Given the description of an element on the screen output the (x, y) to click on. 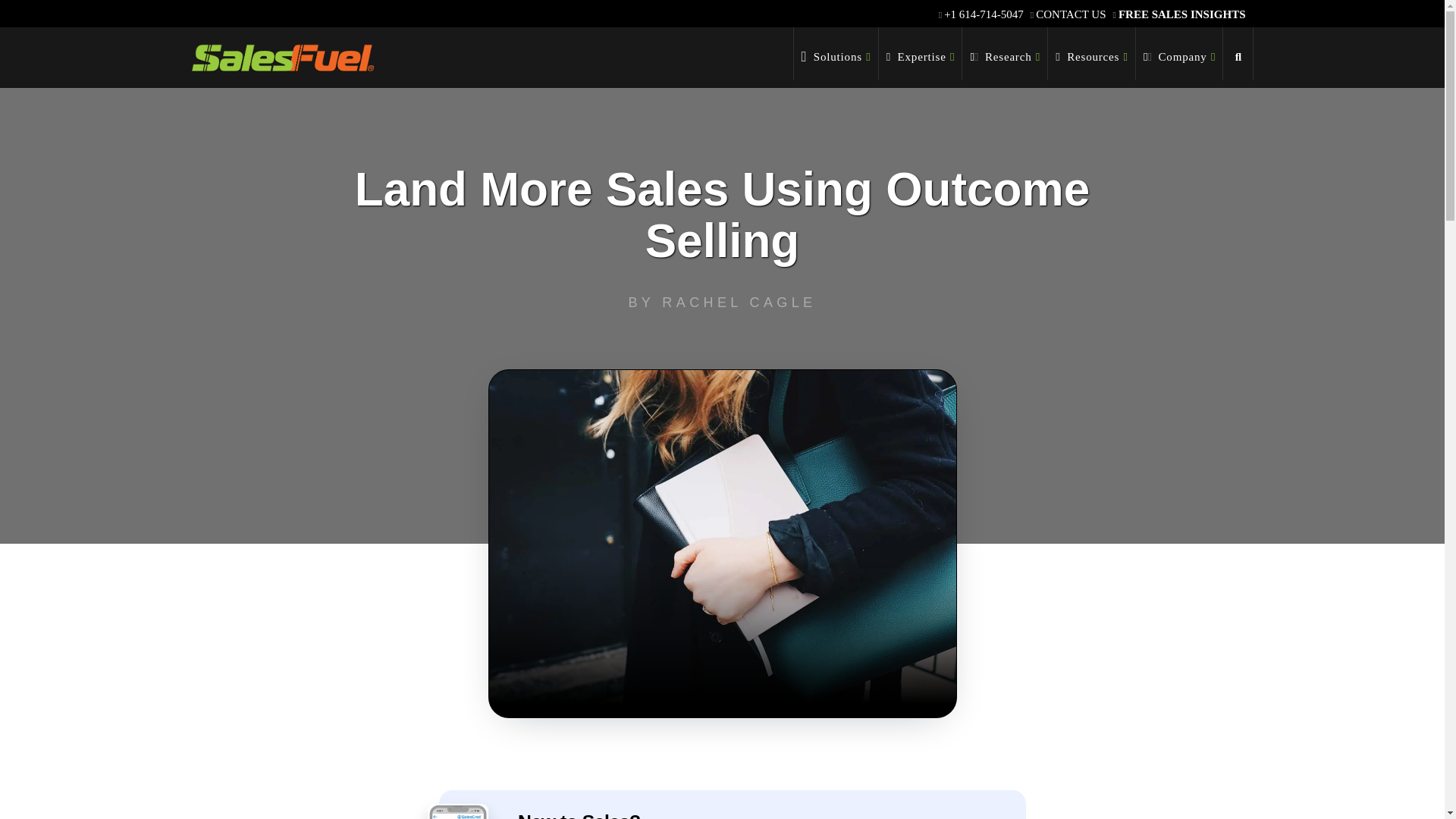
FREE SALES INSIGHTS (1182, 14)
Company (1179, 53)
Research (1005, 53)
Expertise (920, 53)
CONTACT US (1070, 14)
Resources (1091, 53)
Solutions (836, 53)
